Given the description of an element on the screen output the (x, y) to click on. 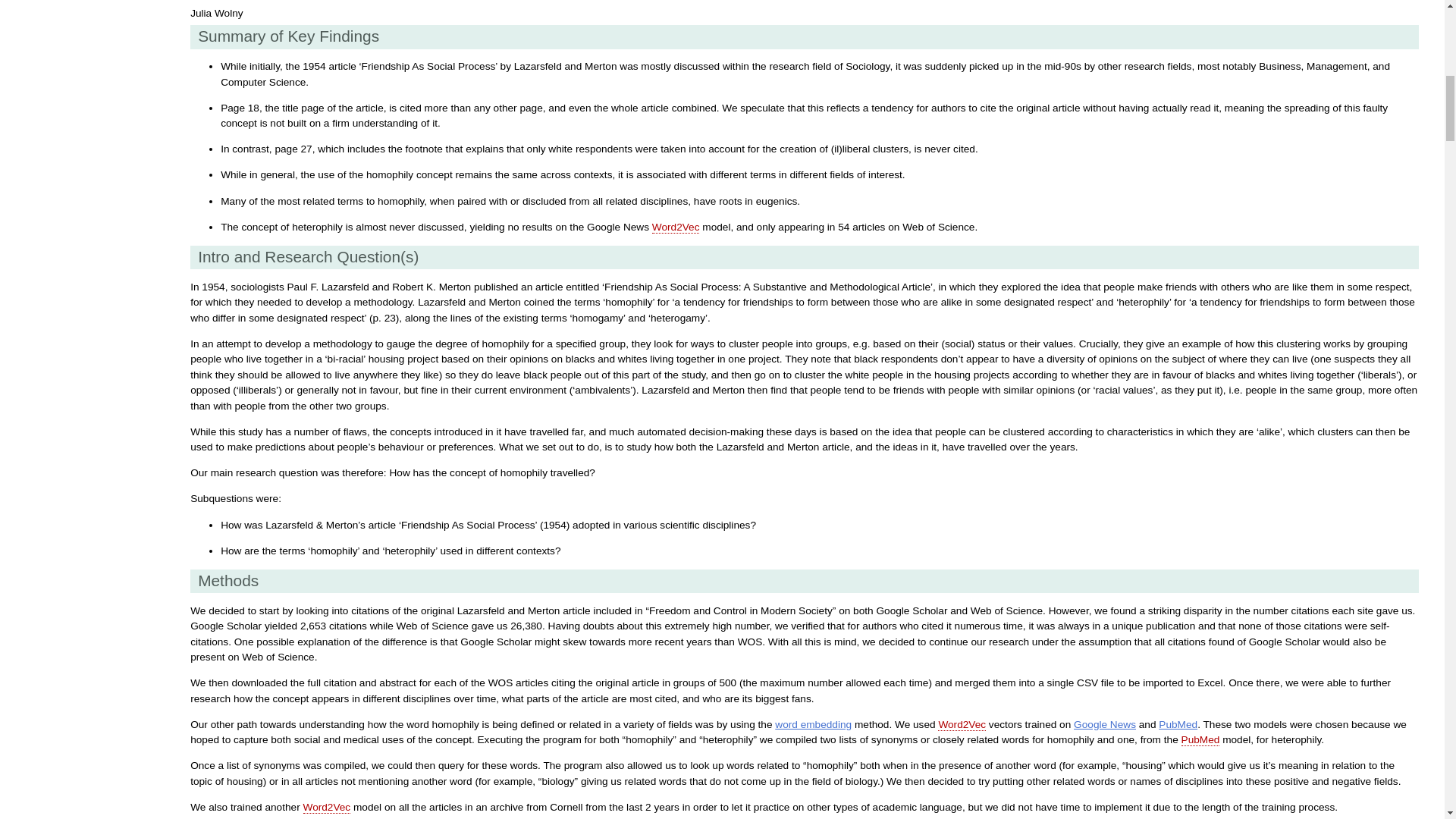
word embedding (812, 724)
Google News (1104, 724)
Create this topic (961, 725)
Word2Vec (961, 725)
Create this topic (326, 807)
PubMed (1177, 724)
Create this topic (676, 227)
Create this topic (1200, 739)
Word2Vec (676, 227)
